Given the description of an element on the screen output the (x, y) to click on. 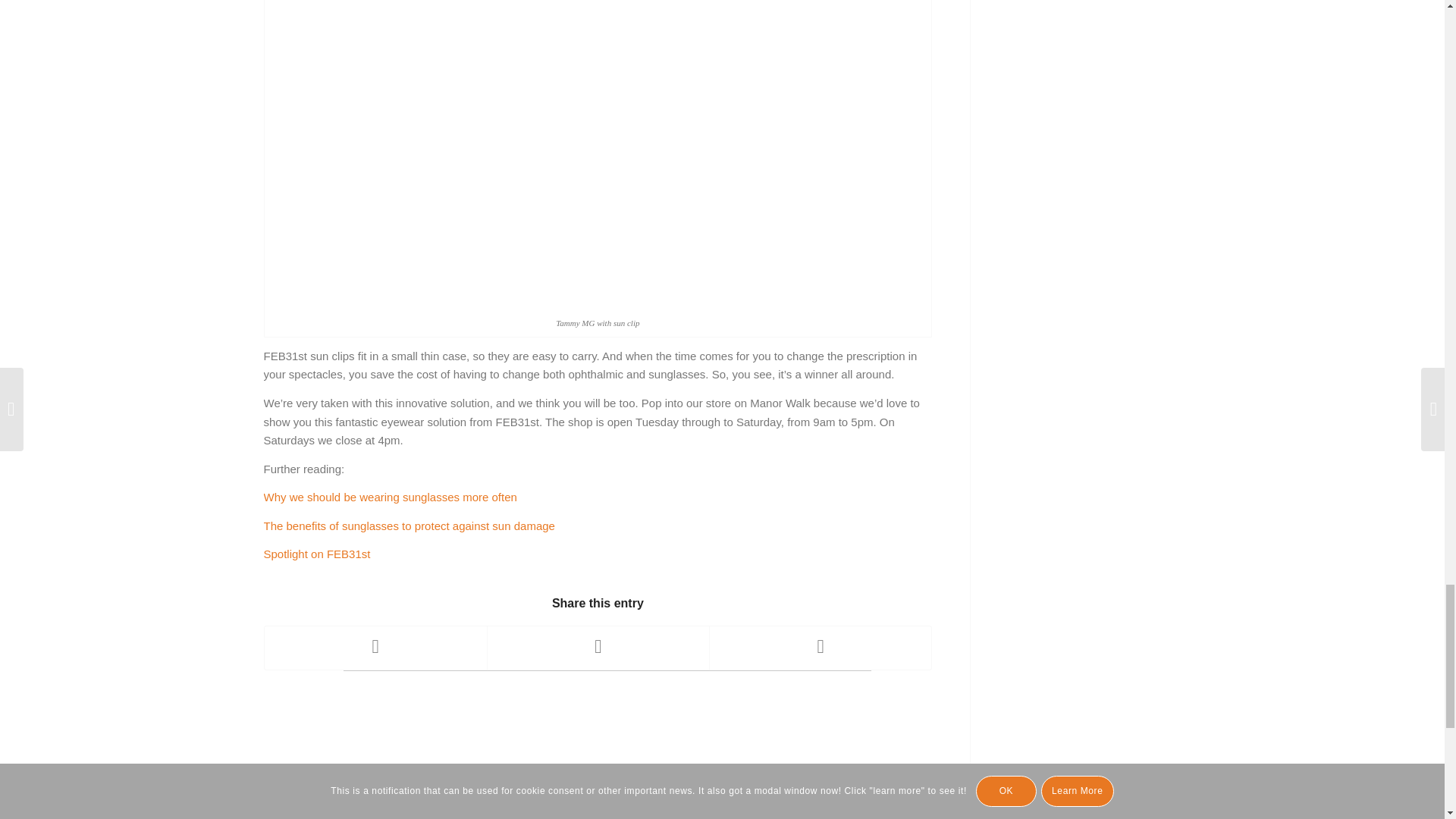
Spotlight on FEB31st (317, 553)
Why we should be wearing sunglasses more often (389, 496)
The benefits of sunglasses to protect against sun damage (408, 525)
